Given the description of an element on the screen output the (x, y) to click on. 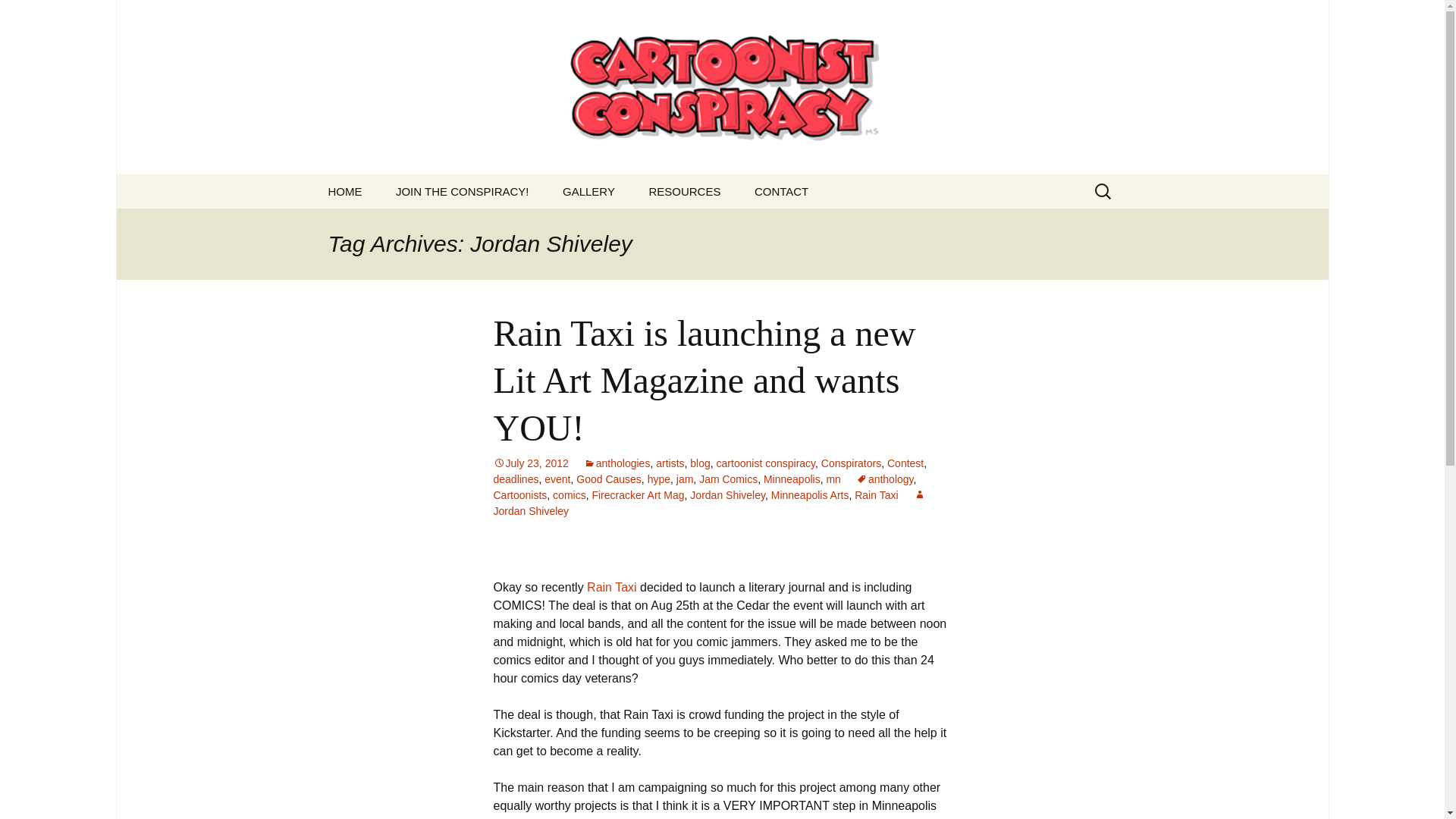
Contest (904, 463)
Good Causes (609, 479)
comics (569, 494)
Search (18, 15)
event (557, 479)
hype (658, 479)
anthologies (616, 463)
Minneapolis Arts (809, 494)
Firecracker Art Mag (637, 494)
Rain Taxi is launching a new Lit Art Magazine and wants YOU! (704, 379)
Rain Taxi (876, 494)
GALLERY (588, 191)
anthology (885, 479)
